Given the description of an element on the screen output the (x, y) to click on. 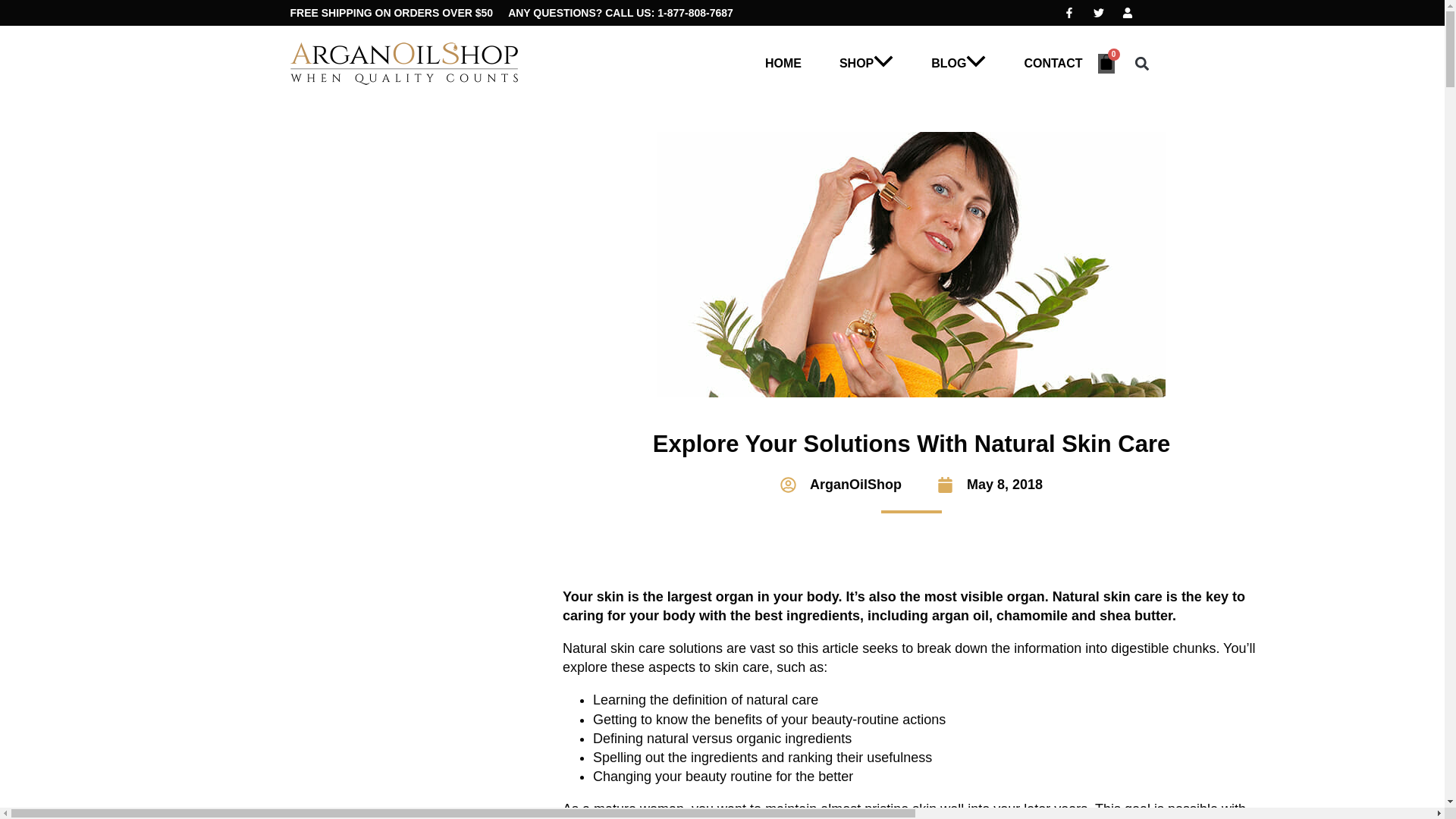
ArganOilShop (840, 484)
HOME (783, 63)
SHOP (866, 63)
CONTACT (1052, 63)
ANY QUESTIONS? CALL US: 1-877-808-7687 (620, 12)
BLOG (958, 63)
